Given the description of an element on the screen output the (x, y) to click on. 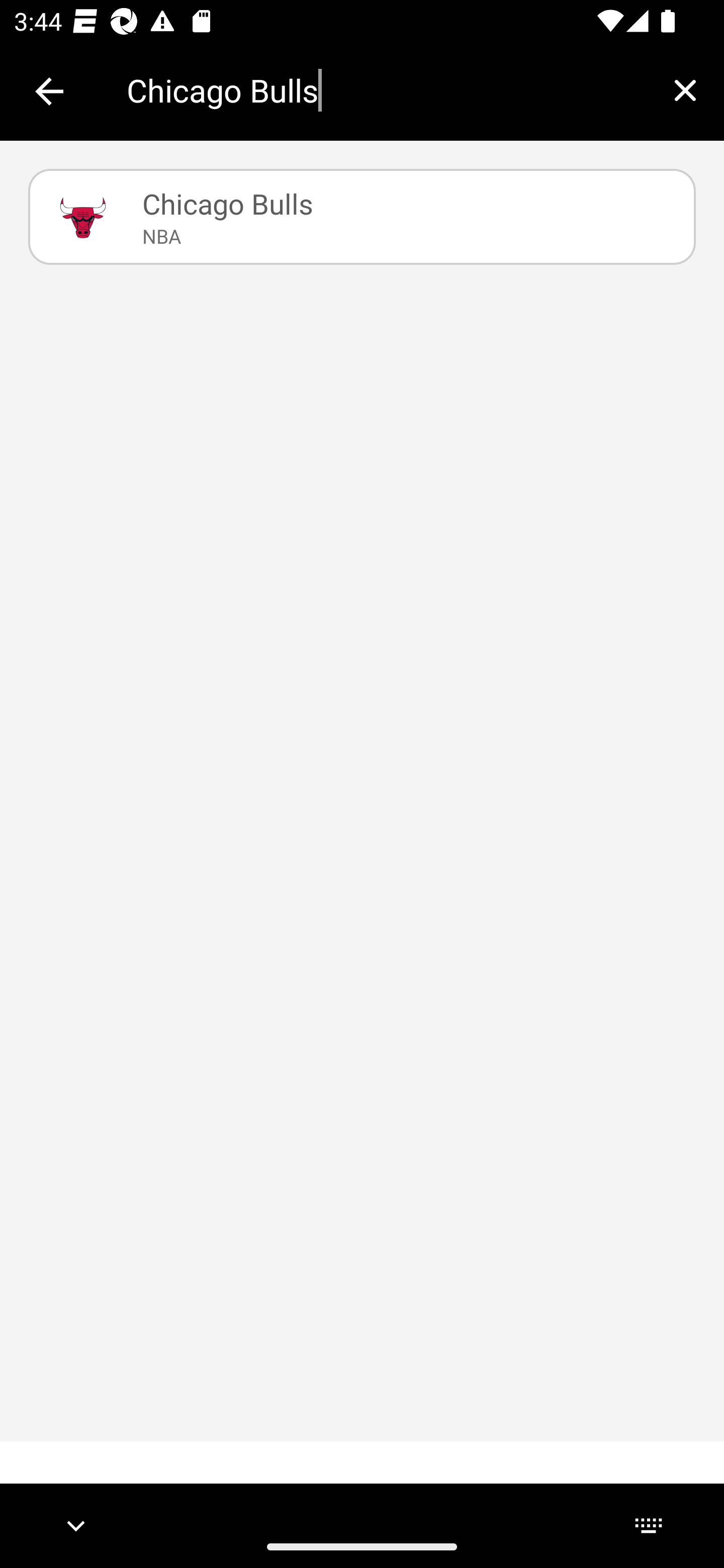
Collapse (49, 91)
Clear query (685, 89)
Chicago Bulls (386, 90)
Chicago Bulls NBA (361, 216)
